Given the description of an element on the screen output the (x, y) to click on. 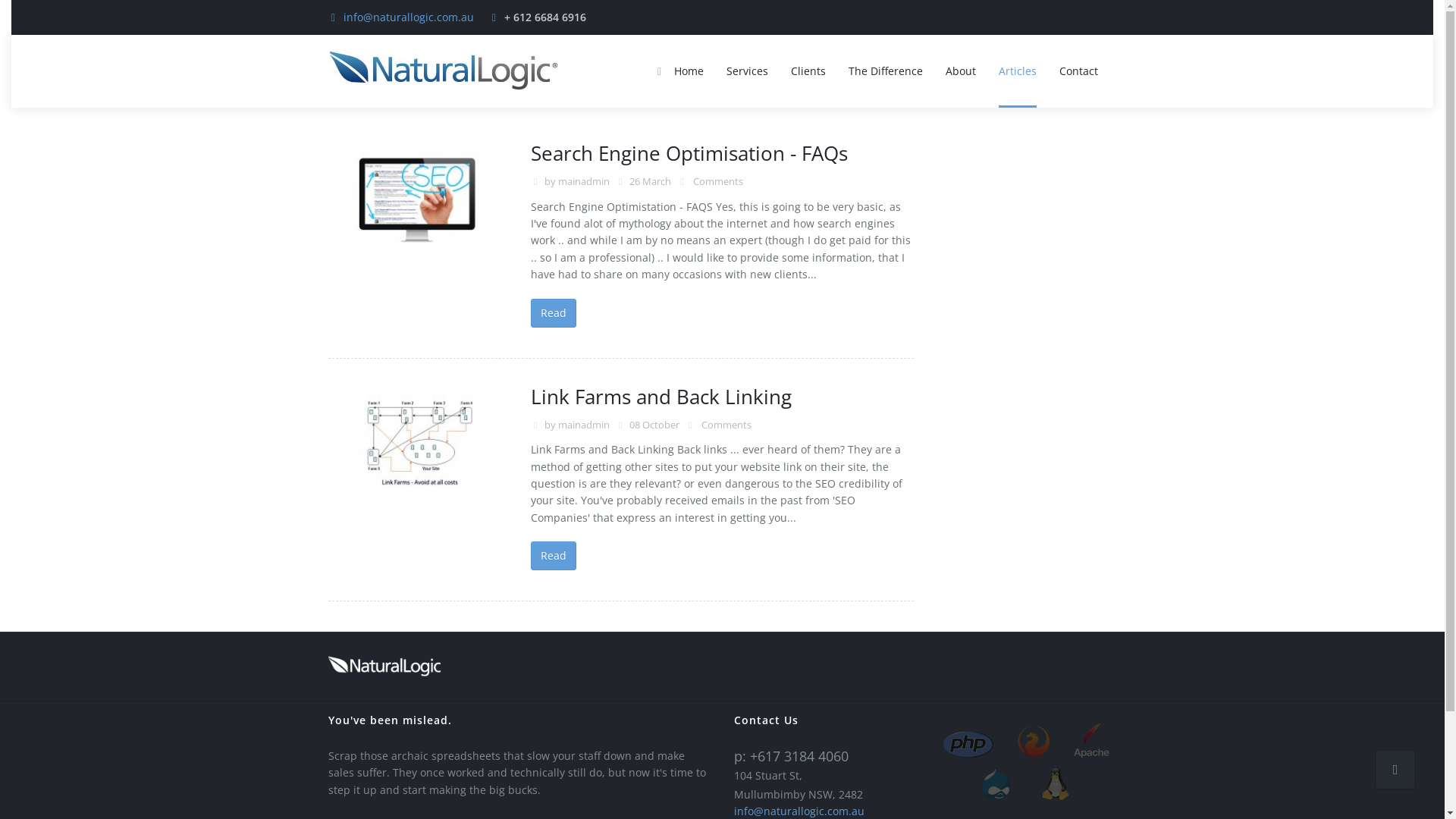
Search Engine Optimisation - FAQs Element type: text (688, 152)
The Difference Element type: text (885, 70)
Read Element type: text (553, 555)
Contact Element type: text (1078, 70)
Link Farms and Back Linking Element type: text (660, 396)
Comments Element type: text (716, 181)
Clients Element type: text (808, 70)
Read Element type: text (553, 312)
mainadmin Element type: text (583, 181)
Articles Element type: text (1017, 70)
Services Element type: text (746, 70)
info@naturallogic.com.au Element type: text (799, 810)
info@naturallogic.com.au Element type: text (407, 17)
Comments Element type: text (725, 424)
Natural Logic Element type: hover (383, 665)
mainadmin Element type: text (583, 424)
Home Element type: text (679, 70)
About Element type: text (960, 70)
